Given the description of an element on the screen output the (x, y) to click on. 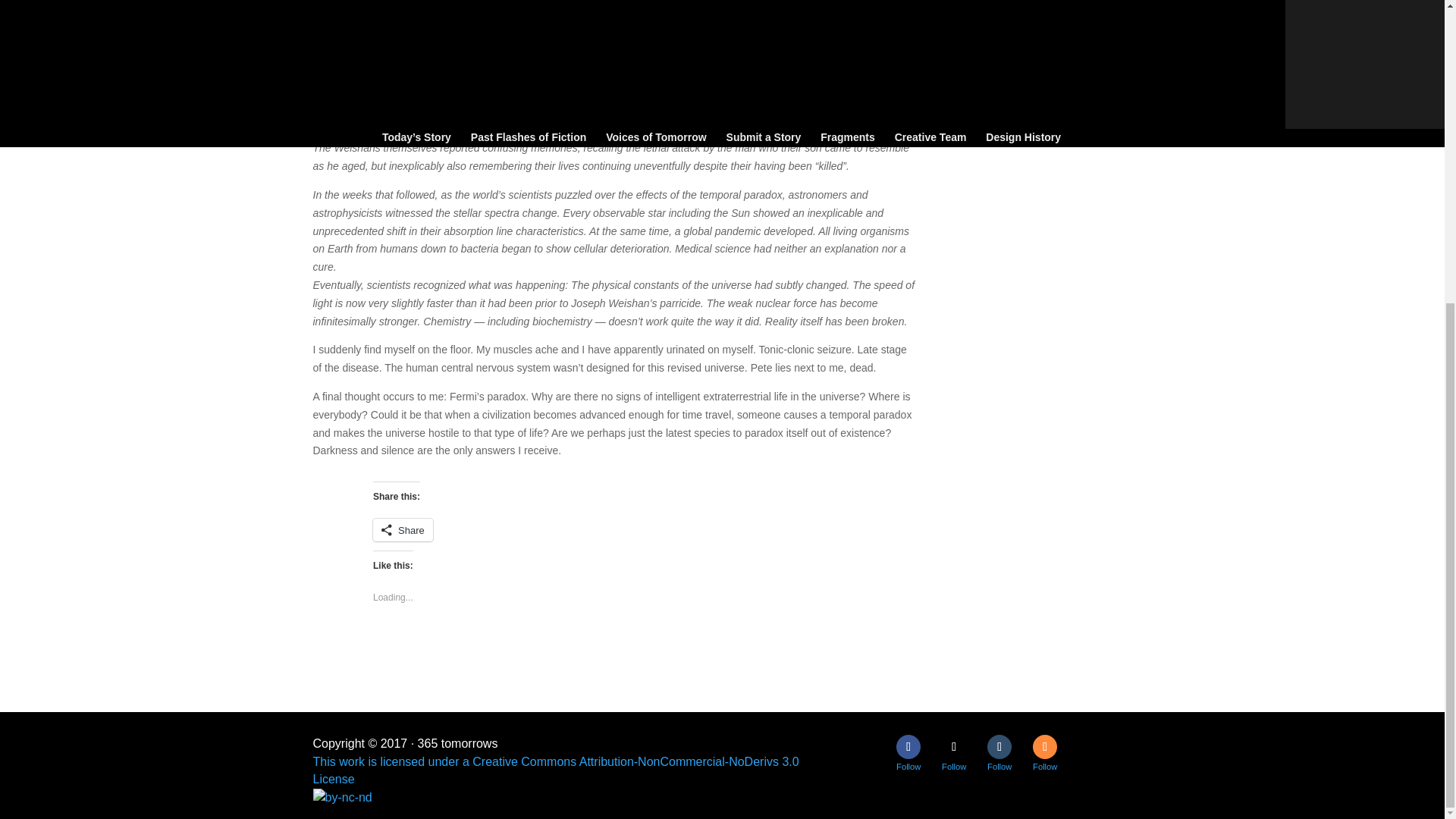
Follow (1044, 746)
Follow on RSS (1044, 746)
Follow (954, 746)
Share (402, 529)
Follow on Facebook (908, 746)
Follow (999, 746)
Follow on tumblr (999, 746)
Follow (908, 746)
Follow on Twitter (954, 746)
